Given the description of an element on the screen output the (x, y) to click on. 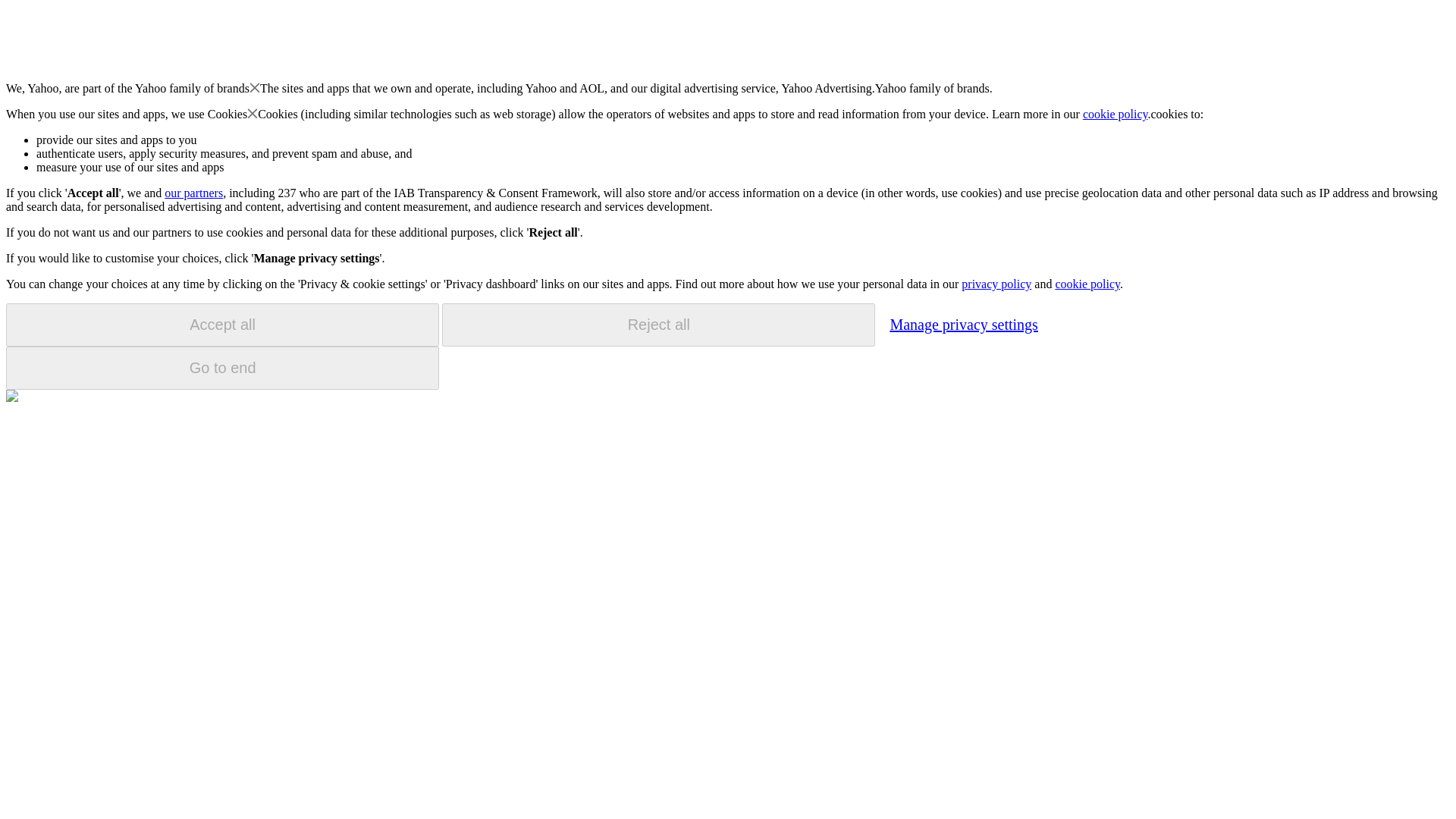
cookie policy (1086, 283)
Accept all (222, 324)
privacy policy (995, 283)
Manage privacy settings (963, 323)
our partners (193, 192)
cookie policy (1115, 113)
Reject all (658, 324)
Go to end (222, 367)
